Given the description of an element on the screen output the (x, y) to click on. 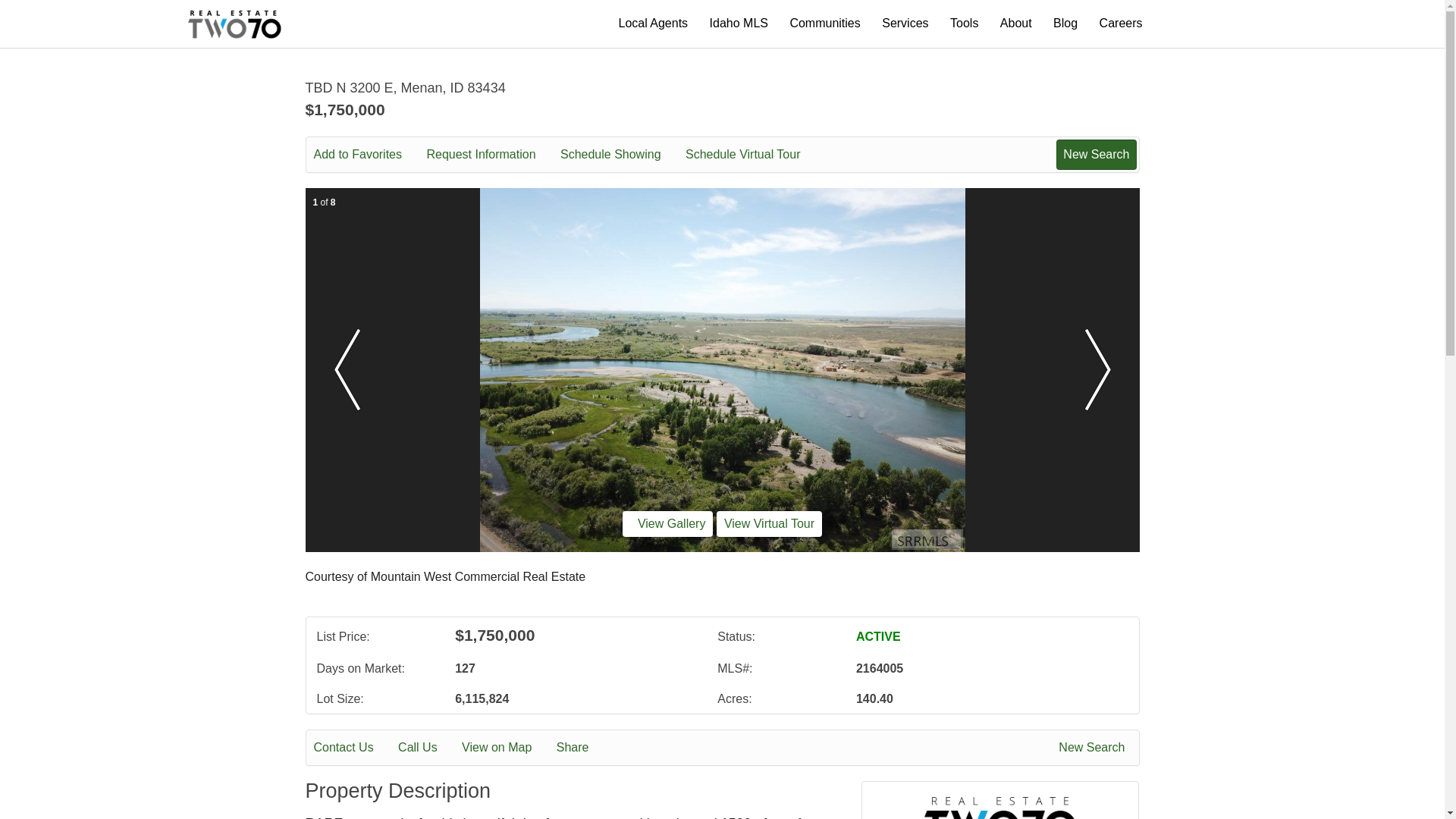
Request Information (491, 154)
Careers (1120, 22)
Blog (1064, 22)
Services (905, 22)
Tools (964, 22)
Schedule Virtual Tour (753, 154)
Add to Favorites (368, 154)
View on Map (507, 747)
Share (583, 747)
View Virtual Tour (769, 524)
Schedule Showing (621, 154)
View Gallery (668, 524)
Communities (824, 22)
Contact Us (354, 747)
New Search (1094, 747)
